Given the description of an element on the screen output the (x, y) to click on. 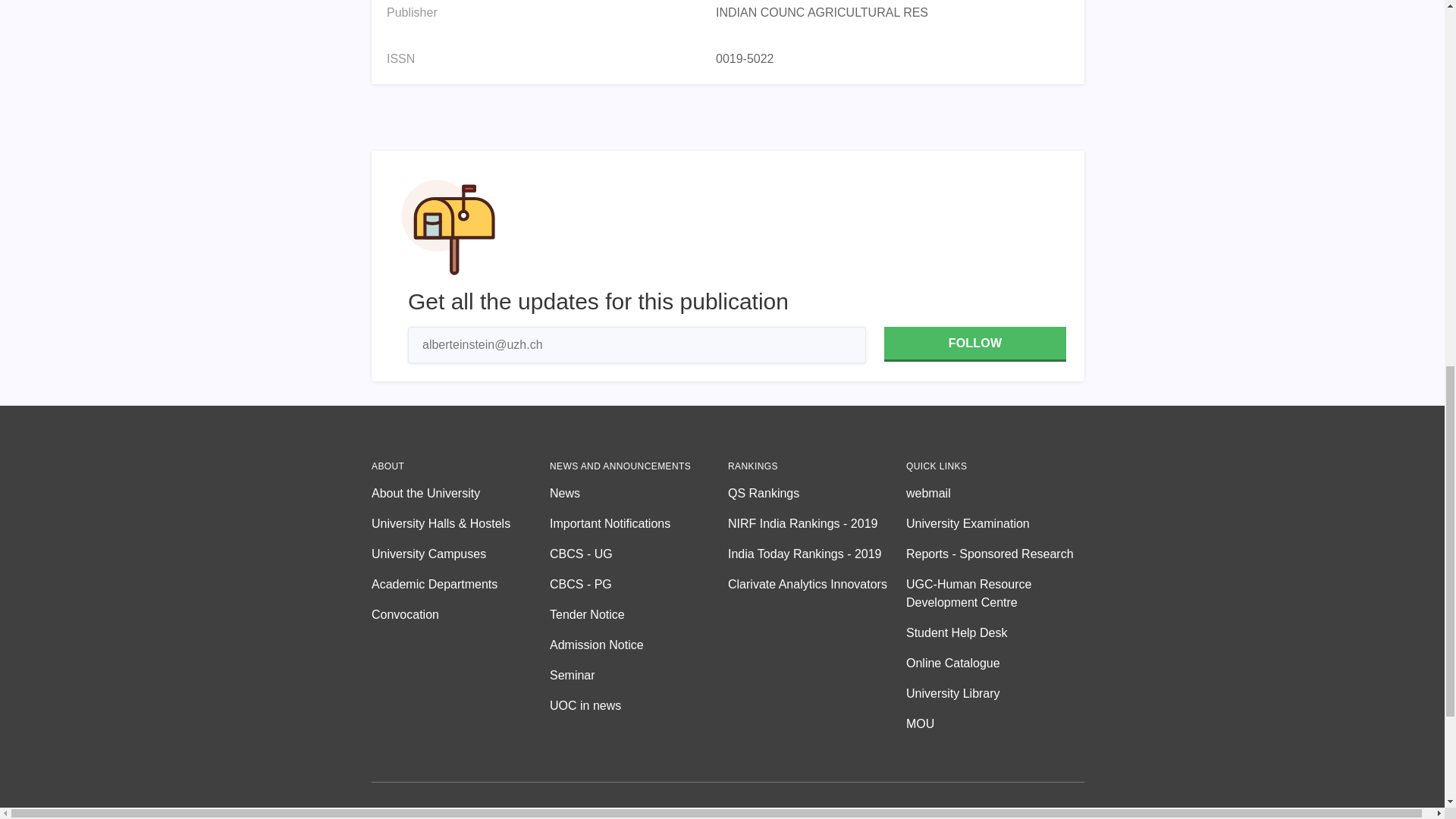
India Today Rankings - 2019 (816, 554)
Convocation (460, 615)
Online Catalogue (994, 663)
News (639, 493)
Clarivate Analytics Innovators (816, 584)
QS Rankings (816, 493)
UGC-Human Resource Development Centre (994, 593)
CBCS - UG (639, 554)
University Campuses (460, 554)
Reports - Sponsored Research (994, 554)
Academic Departments (460, 584)
Seminar (639, 675)
University Library (994, 693)
About the University (460, 493)
FOLLOW (974, 343)
